Given the description of an element on the screen output the (x, y) to click on. 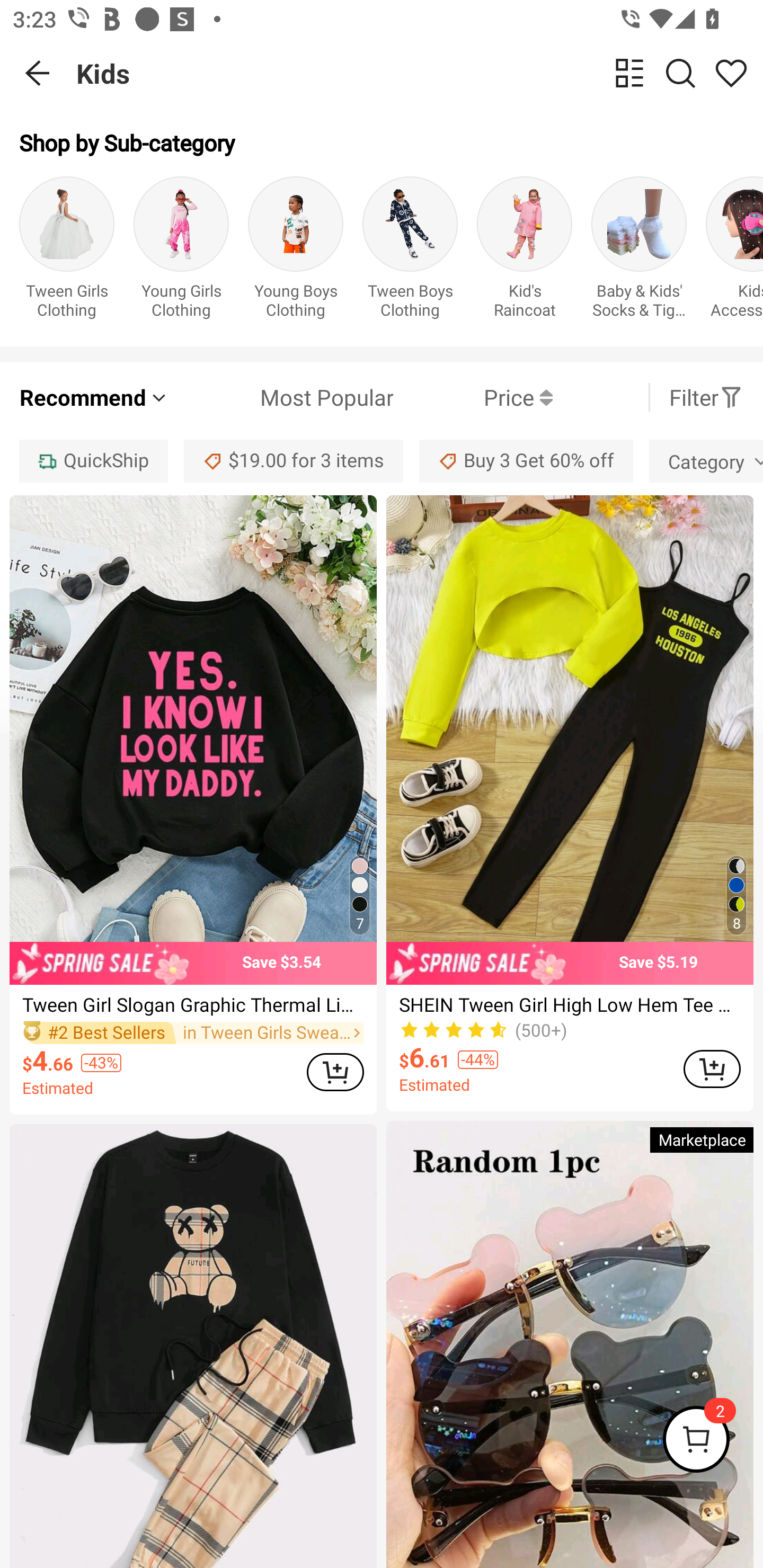
Kids change view Search Share (419, 72)
change view (629, 72)
Search (679, 72)
Share (730, 72)
Tween Girls Clothing (66, 251)
Young Girls Clothing (180, 251)
Young Boys Clothing (295, 251)
Tween Boys Clothing (409, 251)
Kid's Raincoat (524, 251)
Baby & Kids' Socks & Tights (638, 251)
Kids Accessories (734, 251)
Recommend (94, 397)
Most Popular (280, 397)
Price (472, 397)
Filter (705, 397)
QuickShip (93, 460)
$19.00 for 3 items (292, 460)
Buy 3 Get 60% off (525, 460)
Category (706, 460)
#2 Best Sellers in Tween Girls Sweatshirts (192, 1032)
ADD TO CART (711, 1069)
ADD TO CART (334, 1072)
